Given the description of an element on the screen output the (x, y) to click on. 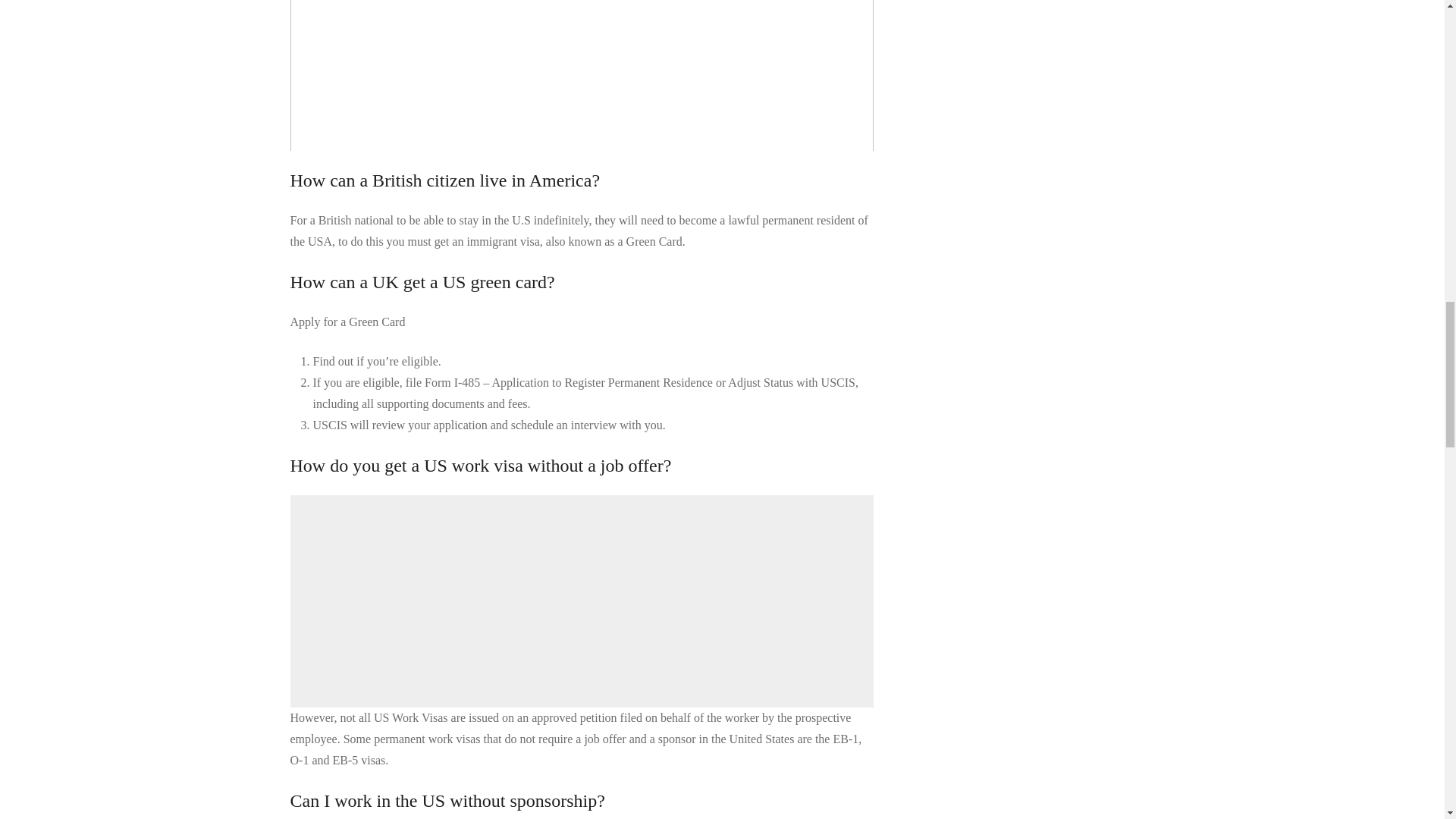
Advertisement (584, 601)
